Given the description of an element on the screen output the (x, y) to click on. 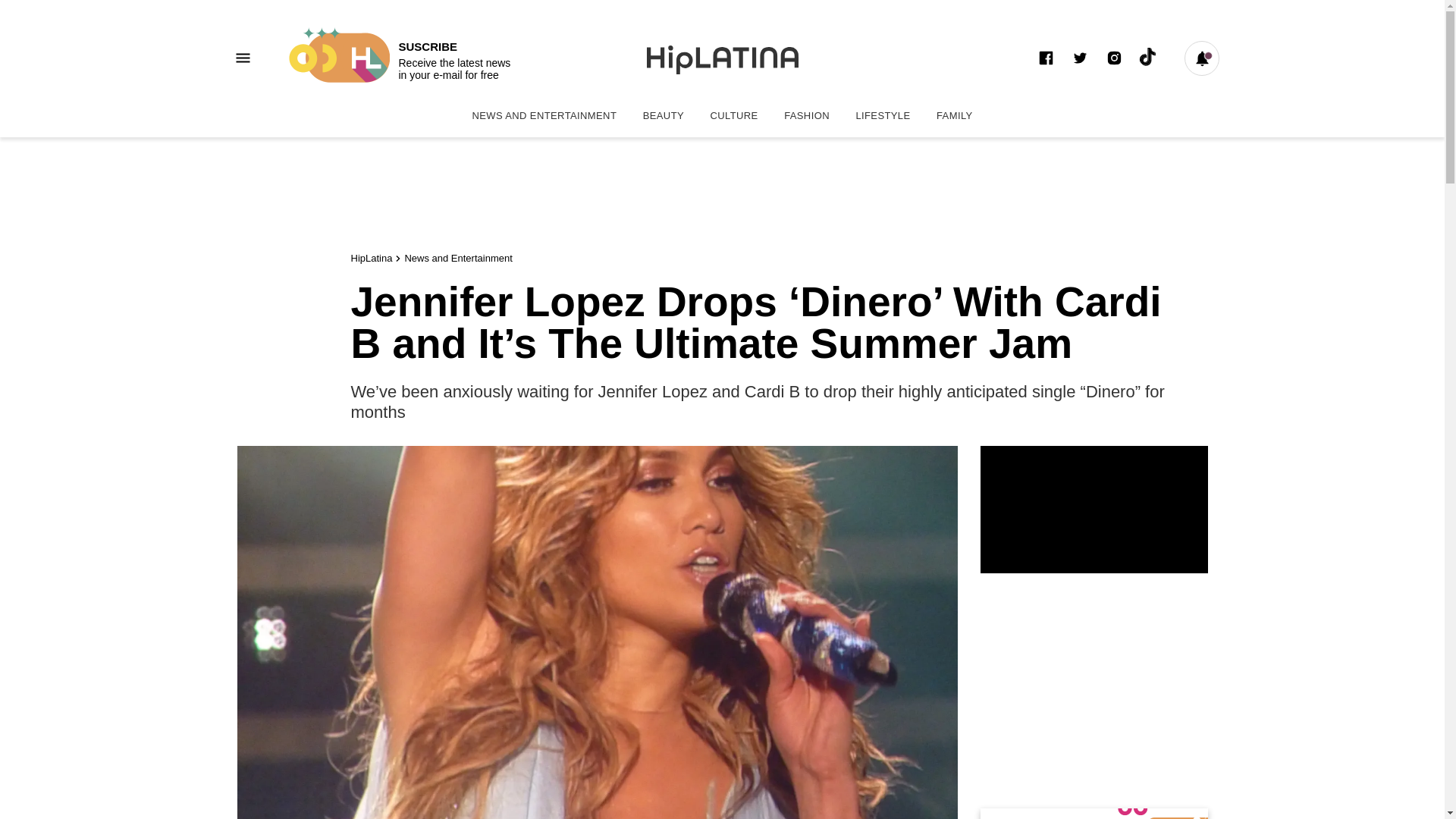
HipLatina (370, 258)
Family (954, 115)
HipLatina (370, 258)
News and Entertainment (543, 115)
News and Entertainment (458, 258)
Follow HipLatina on Facebook (1044, 57)
BEAUTY (663, 115)
Fashion (807, 115)
NEWS AND ENTERTAINMENT (543, 115)
FAMILY (954, 115)
